Given the description of an element on the screen output the (x, y) to click on. 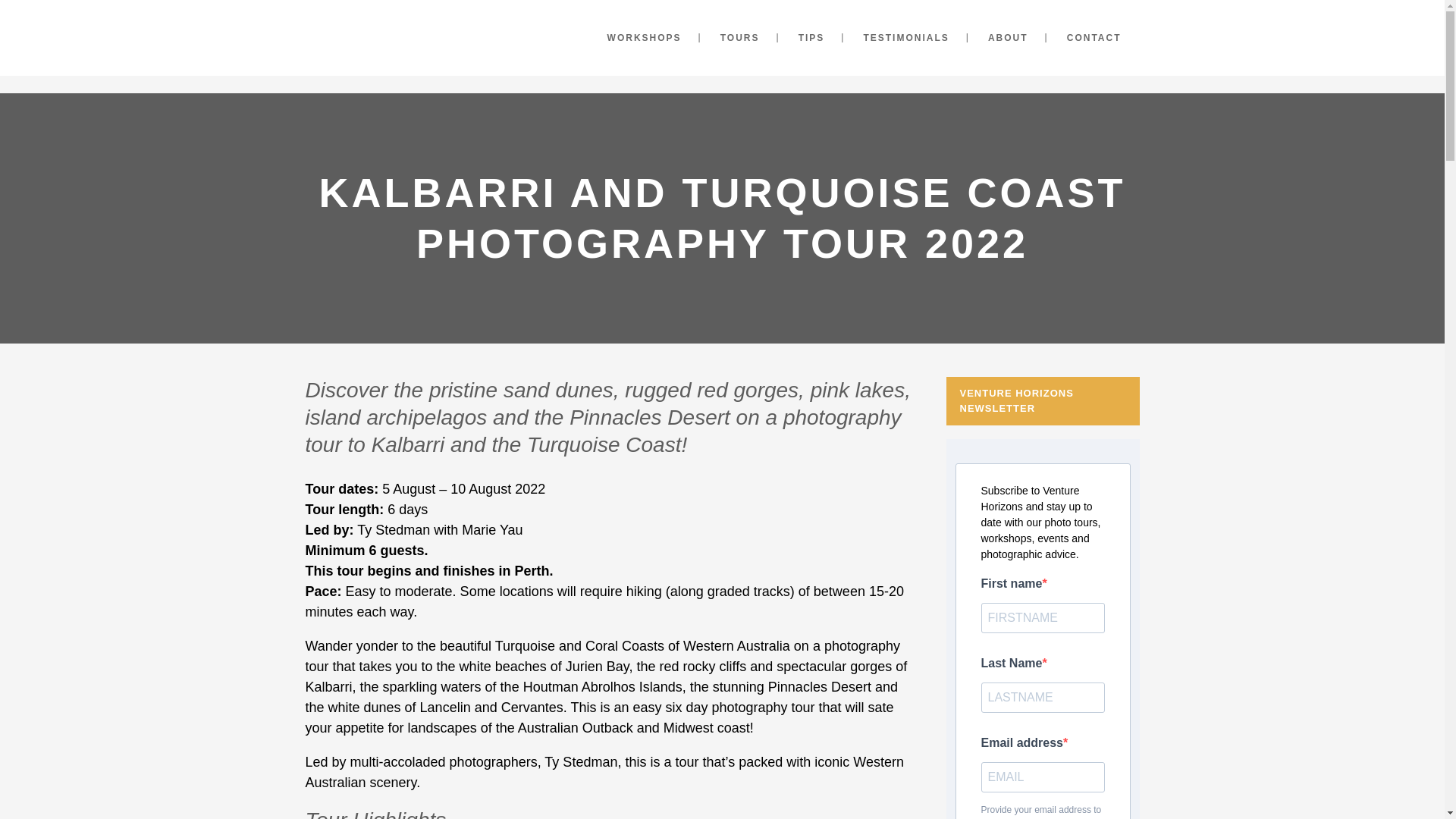
TOURS (739, 38)
ABOUT (1007, 38)
WORKSHOPS (644, 38)
CONTACT (1094, 38)
TESTIMONIALS (905, 38)
